Given the description of an element on the screen output the (x, y) to click on. 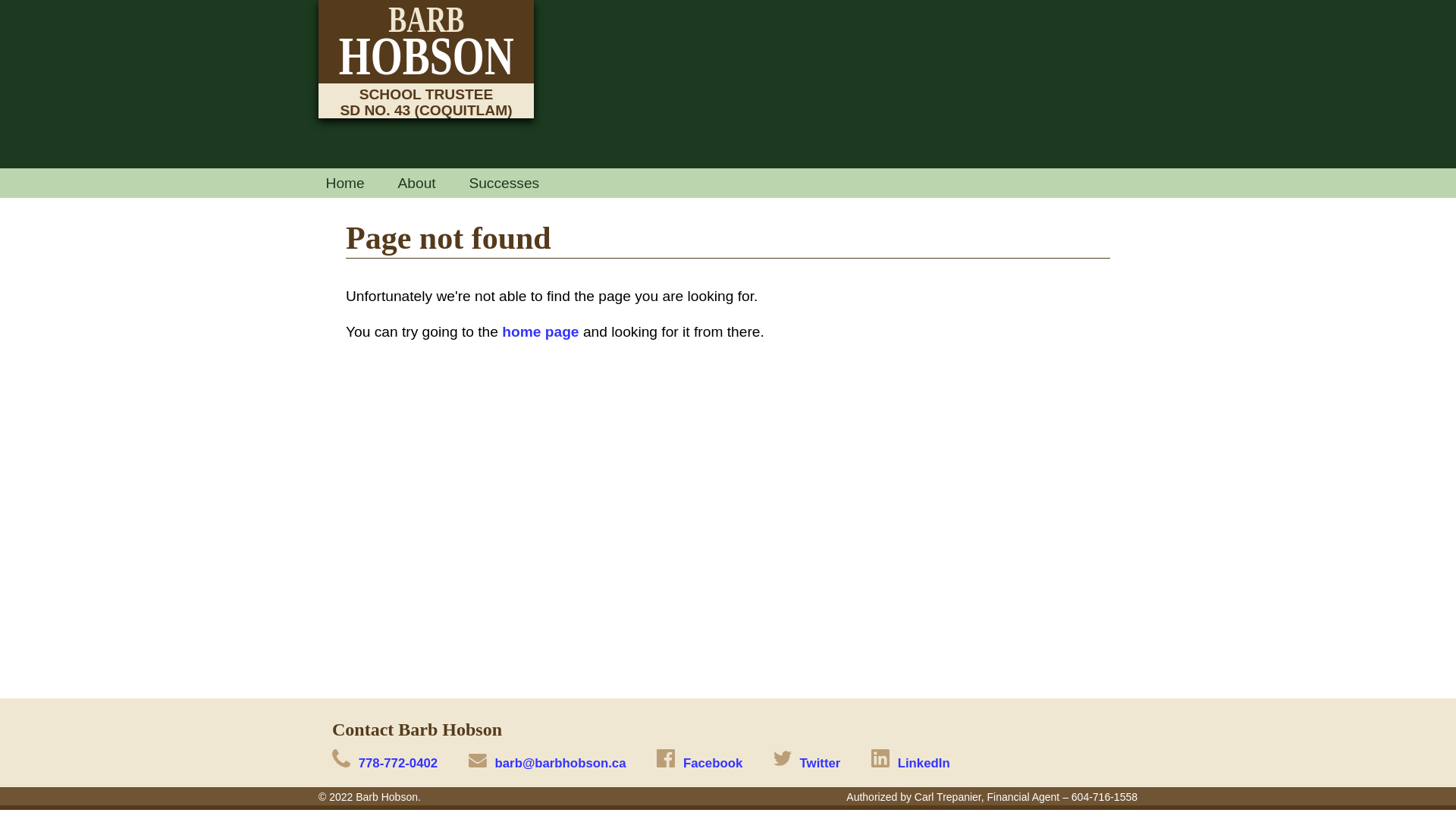
Email barb@barbhobson.ca Element type: text (547, 763)
Cell Phone 778-772-0402 Element type: text (384, 763)
Successes Element type: text (503, 182)
LinkedIn LinkedIn Element type: text (910, 763)
About Element type: text (416, 182)
Home Element type: text (344, 182)
BARB
HOBSON
SCHOOL TRUSTEE
SD NO. 43 (COQUITLAM) Element type: text (425, 59)
home page Element type: text (540, 331)
Facebook Facebook Element type: text (699, 763)
Twitter Element type: text (806, 763)
